Given the description of an element on the screen output the (x, y) to click on. 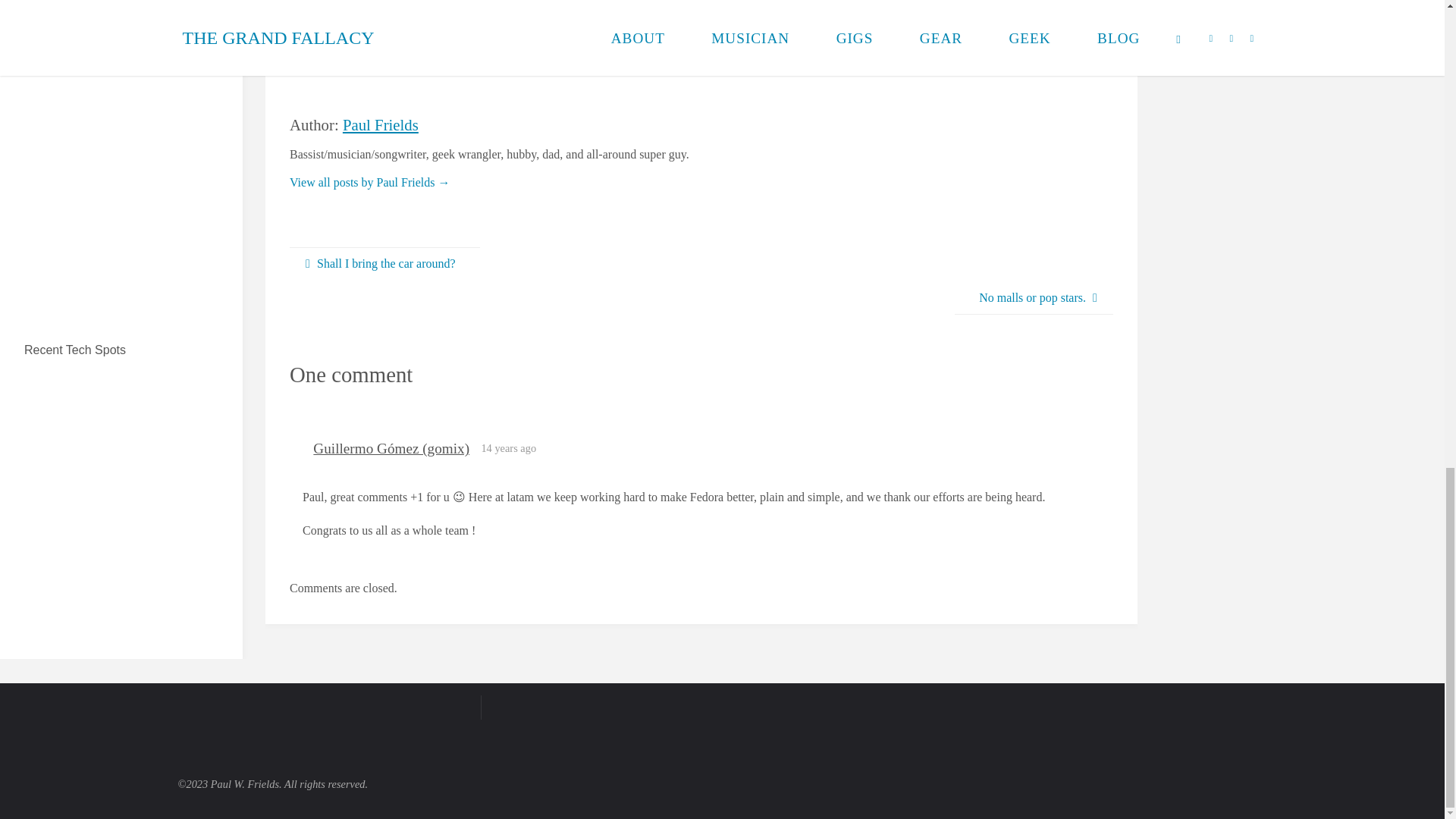
No malls or pop stars. (1034, 298)
14 years ago (507, 448)
Shall I bring the car around? (384, 264)
